Given the description of an element on the screen output the (x, y) to click on. 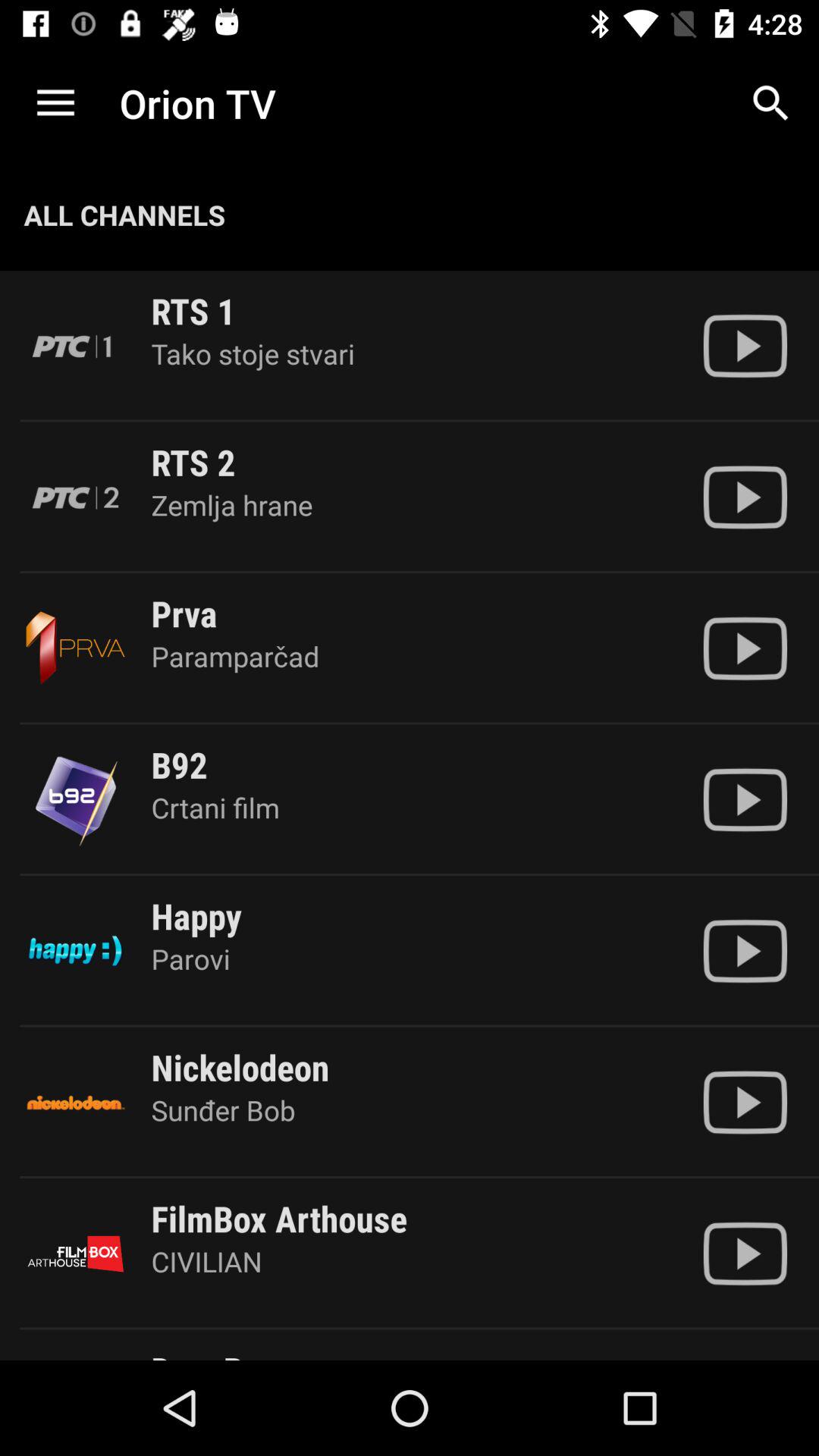
play channel (745, 345)
